Given the description of an element on the screen output the (x, y) to click on. 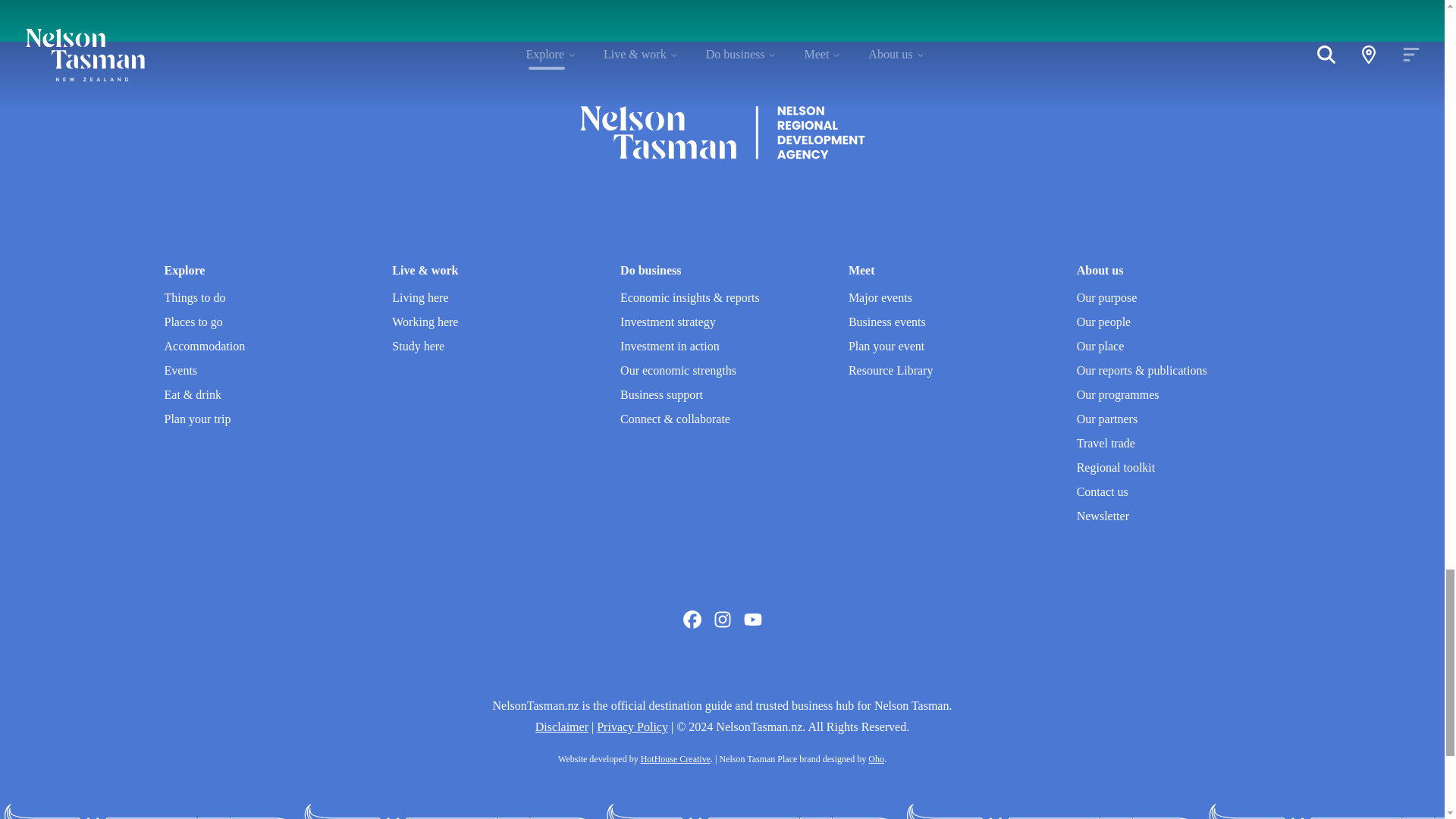
Things to do (194, 297)
Explore (184, 269)
Places to go (192, 321)
Accommodation (203, 345)
Events (179, 369)
